Given the description of an element on the screen output the (x, y) to click on. 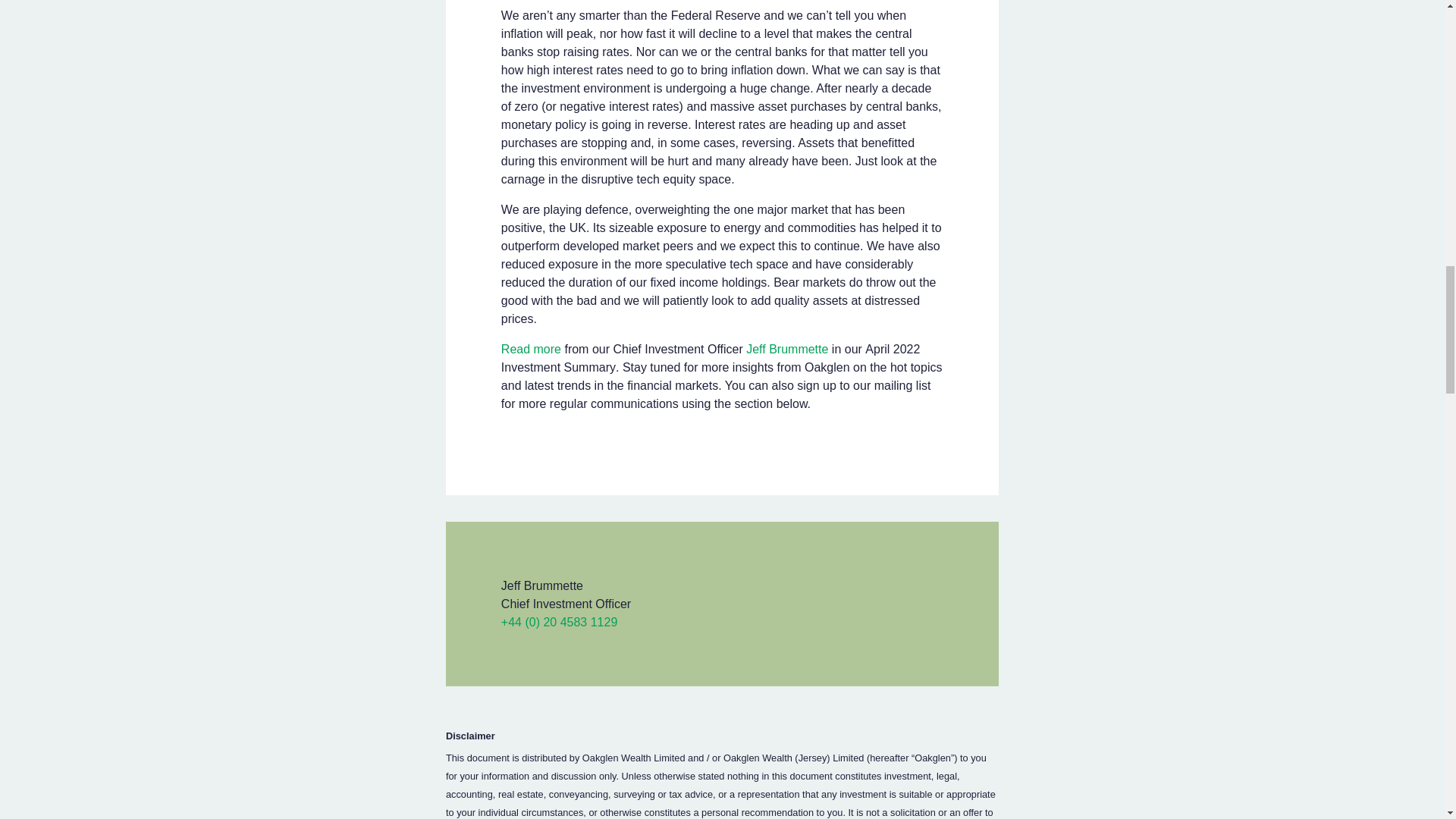
Read more (530, 349)
Jeff Brummette (786, 349)
